Given the description of an element on the screen output the (x, y) to click on. 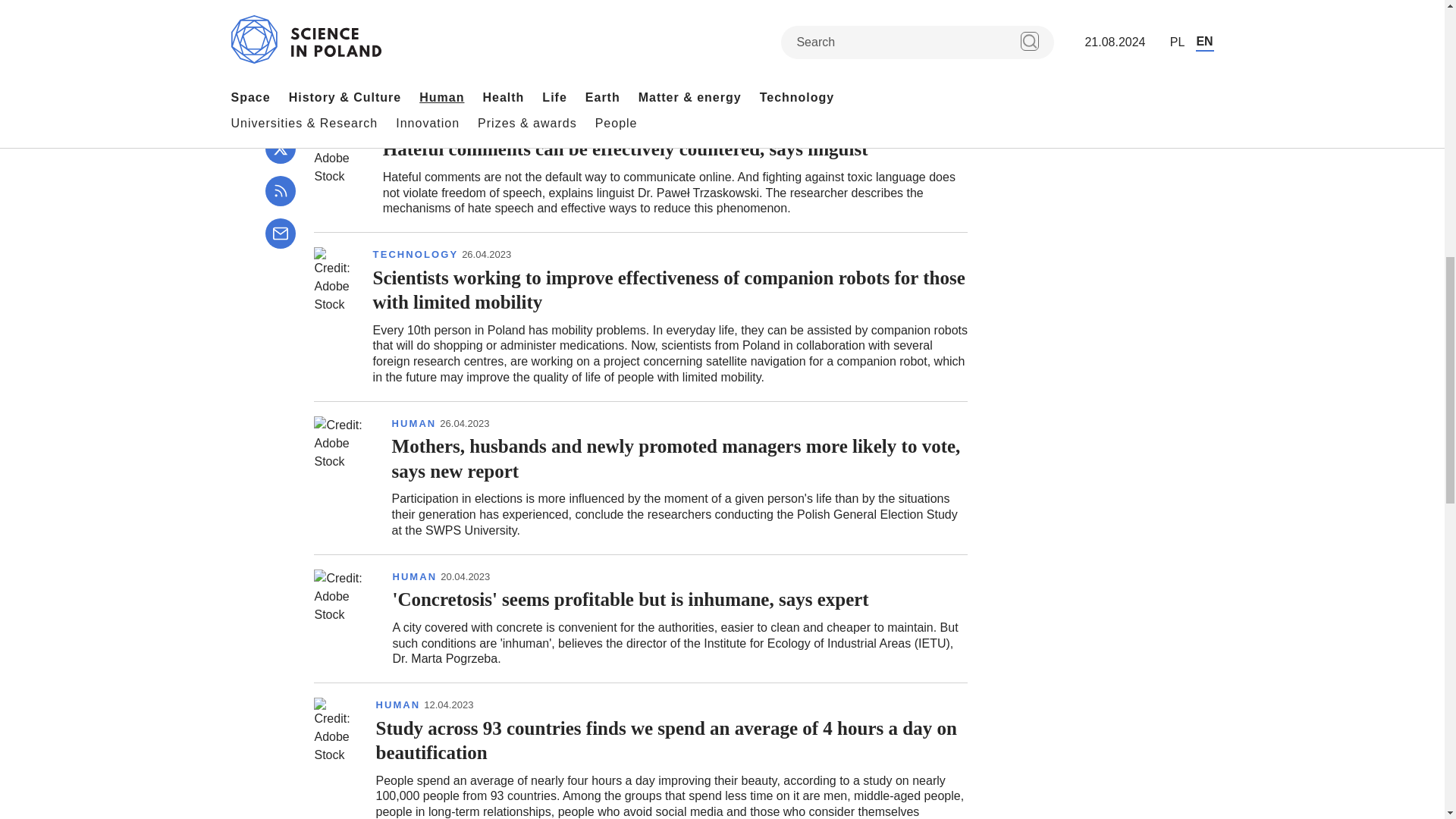
Hateful comments can be effectively countered, says linguist (641, 167)
TECHNOLOGY (416, 254)
HUMAN (414, 576)
HUMAN (397, 704)
'Concretosis' seems profitable but is inhumane, says expert  (641, 618)
HUMAN (404, 126)
HUMAN (414, 423)
